Given the description of an element on the screen output the (x, y) to click on. 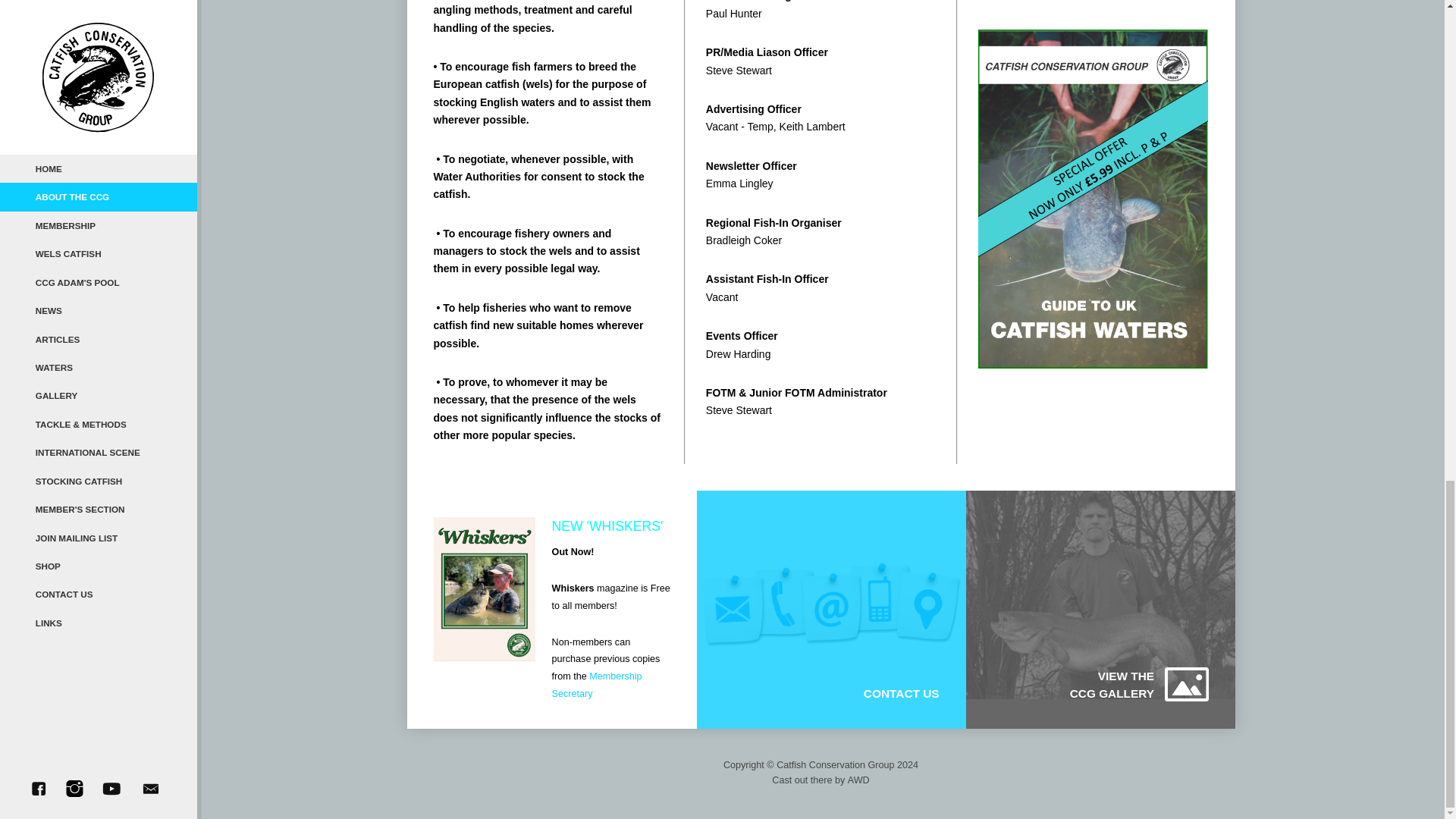
Advanced Web Designs Ltd. (858, 779)
CONTACT US (804, 692)
Membership Secretary (596, 684)
AWD (858, 779)
